Given the description of an element on the screen output the (x, y) to click on. 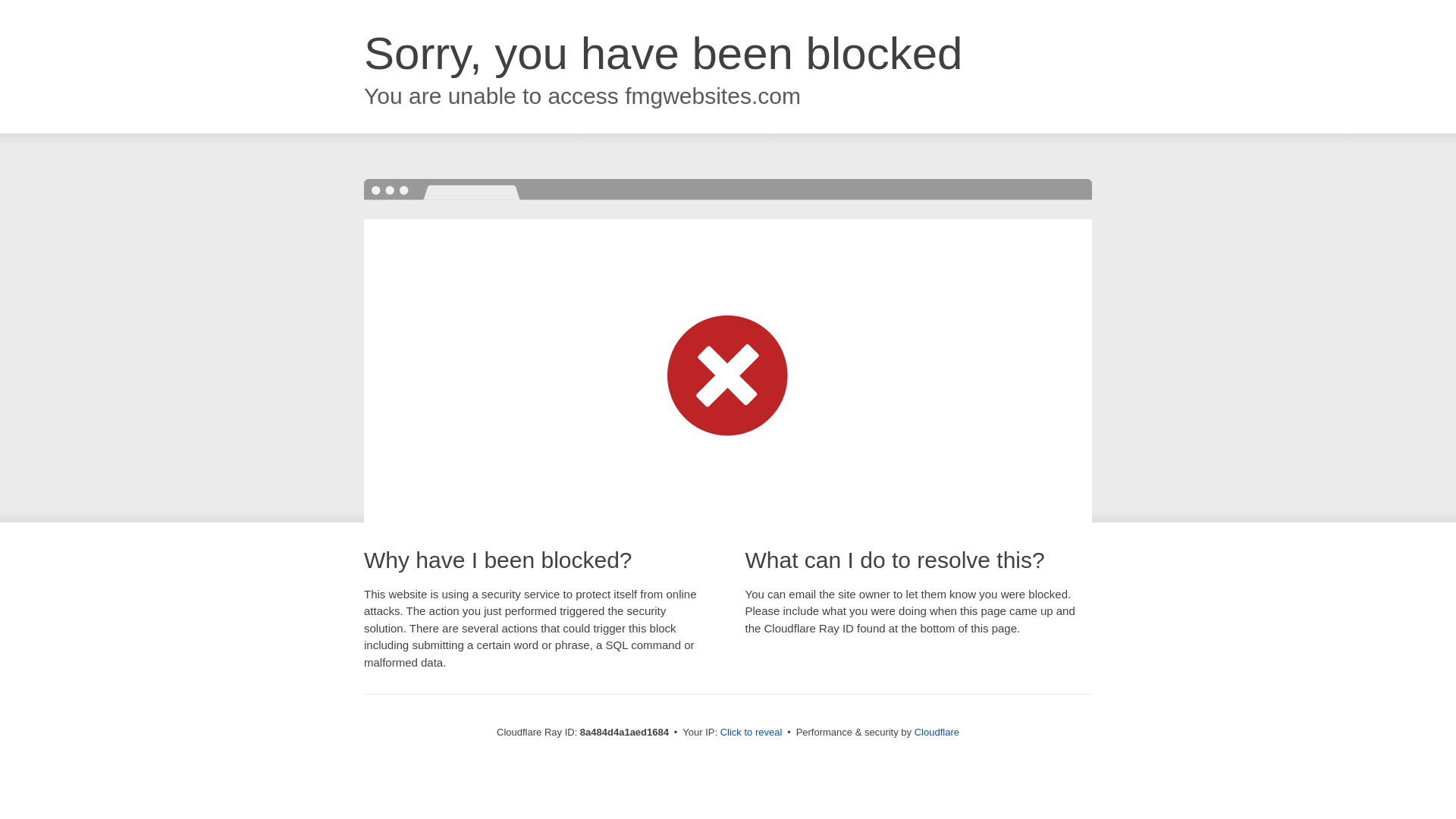
Cloudflare (936, 731)
Click to reveal (751, 732)
